Given the description of an element on the screen output the (x, y) to click on. 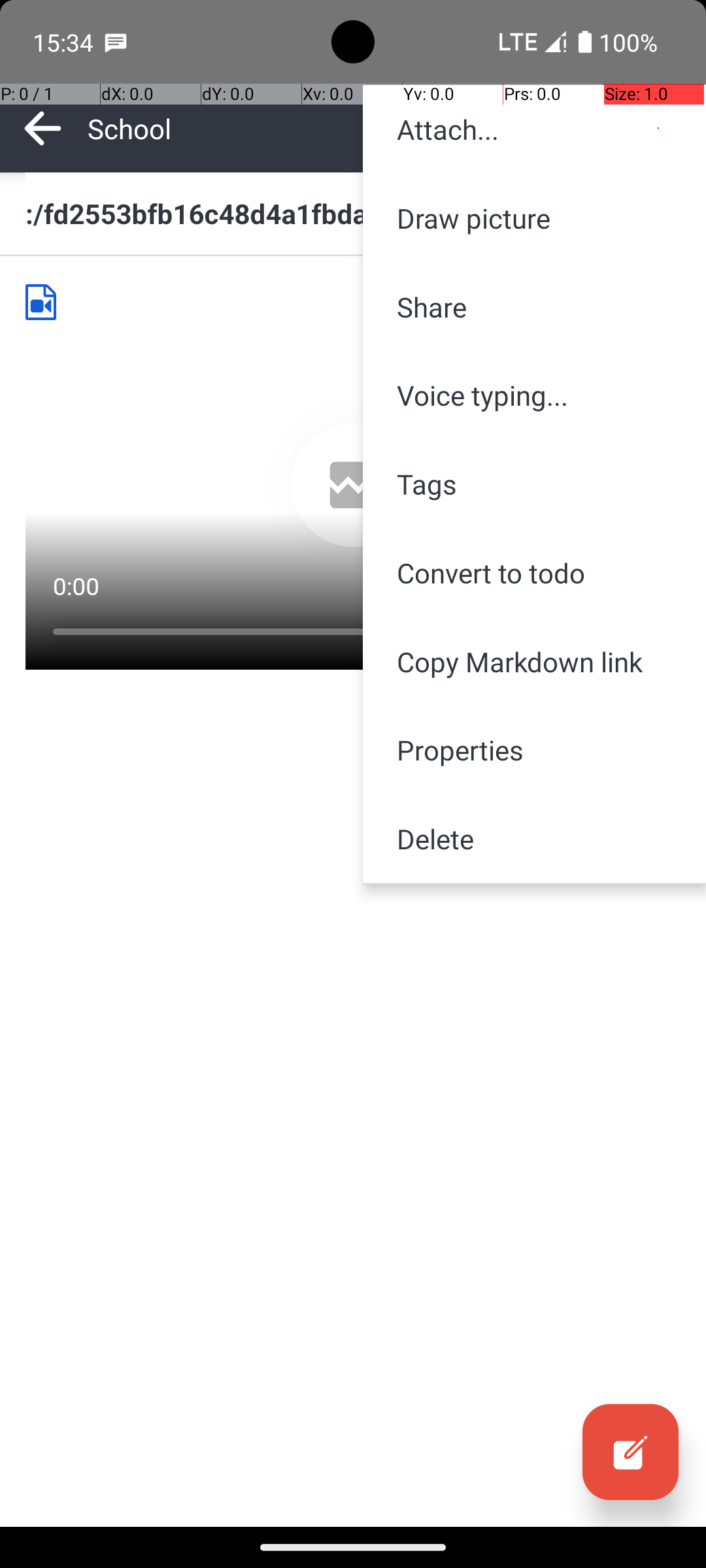
:/fd2553bfb16c48d4a1fbdad4d378846a Element type: android.widget.EditText (352, 213)
Convert to todo Element type: android.widget.TextView (534, 572)
NoteBodyViewer Element type: android.view.View (45, 301)
play Element type: android.widget.Button (353, 484)
elapsed time: 0:00, video time scrubber Element type: android.widget.SeekBar (352, 648)
enter full screen Element type: android.widget.Button (557, 586)
mute Element type: android.widget.Button (474, 586)
